Given the description of an element on the screen output the (x, y) to click on. 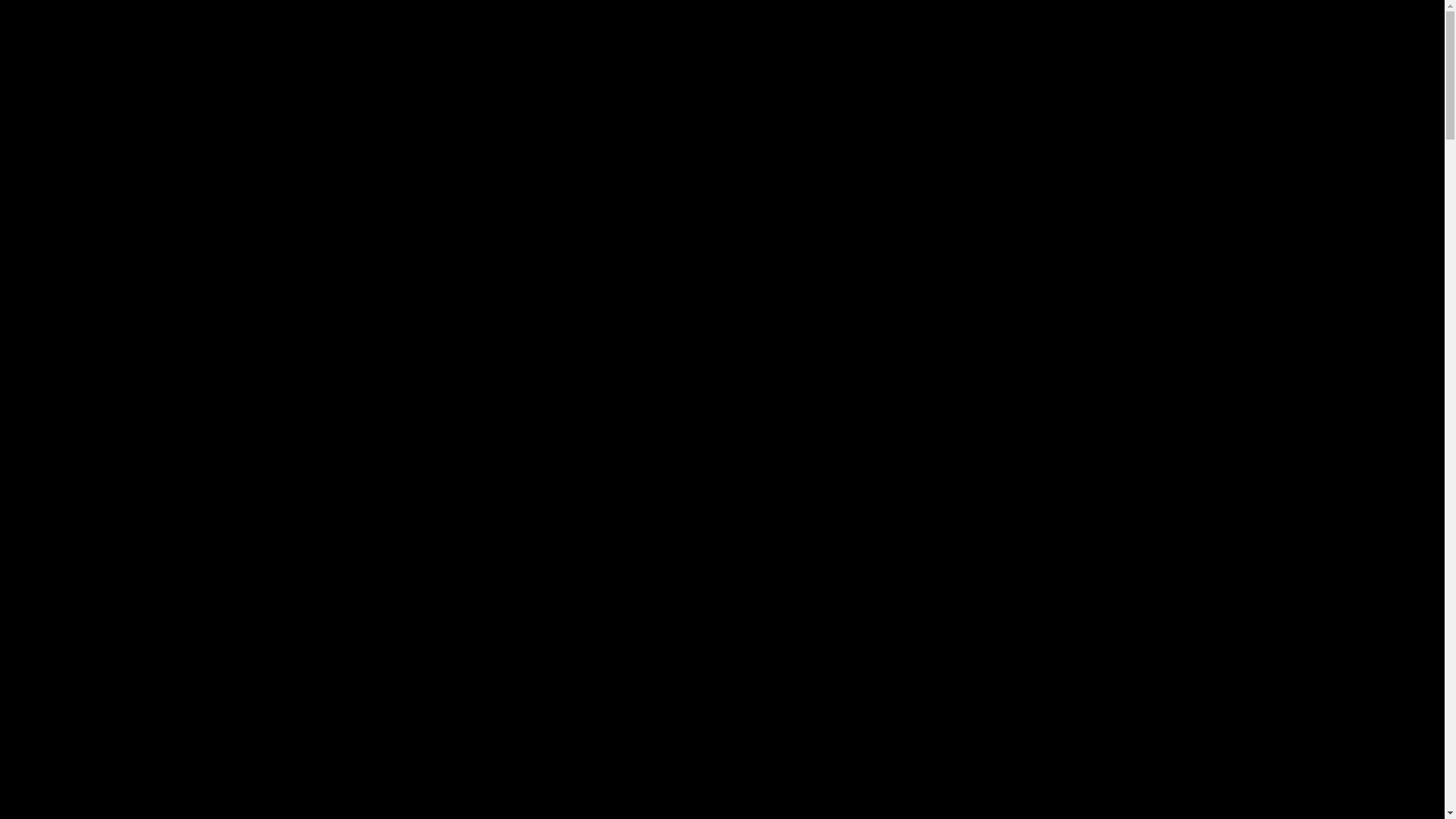
INTERWEBZ Element type: text (784, 764)
MV AGUSTA Element type: text (721, 529)
RIEJU Element type: text (721, 575)
Instagram Element type: hover (1409, 18)
Facebook Element type: hover (1376, 18)
ROYAL ENFIELD Element type: text (721, 484)
TORROT KIDS Element type: text (720, 620)
FIND US Element type: text (721, 632)
